Given the description of an element on the screen output the (x, y) to click on. 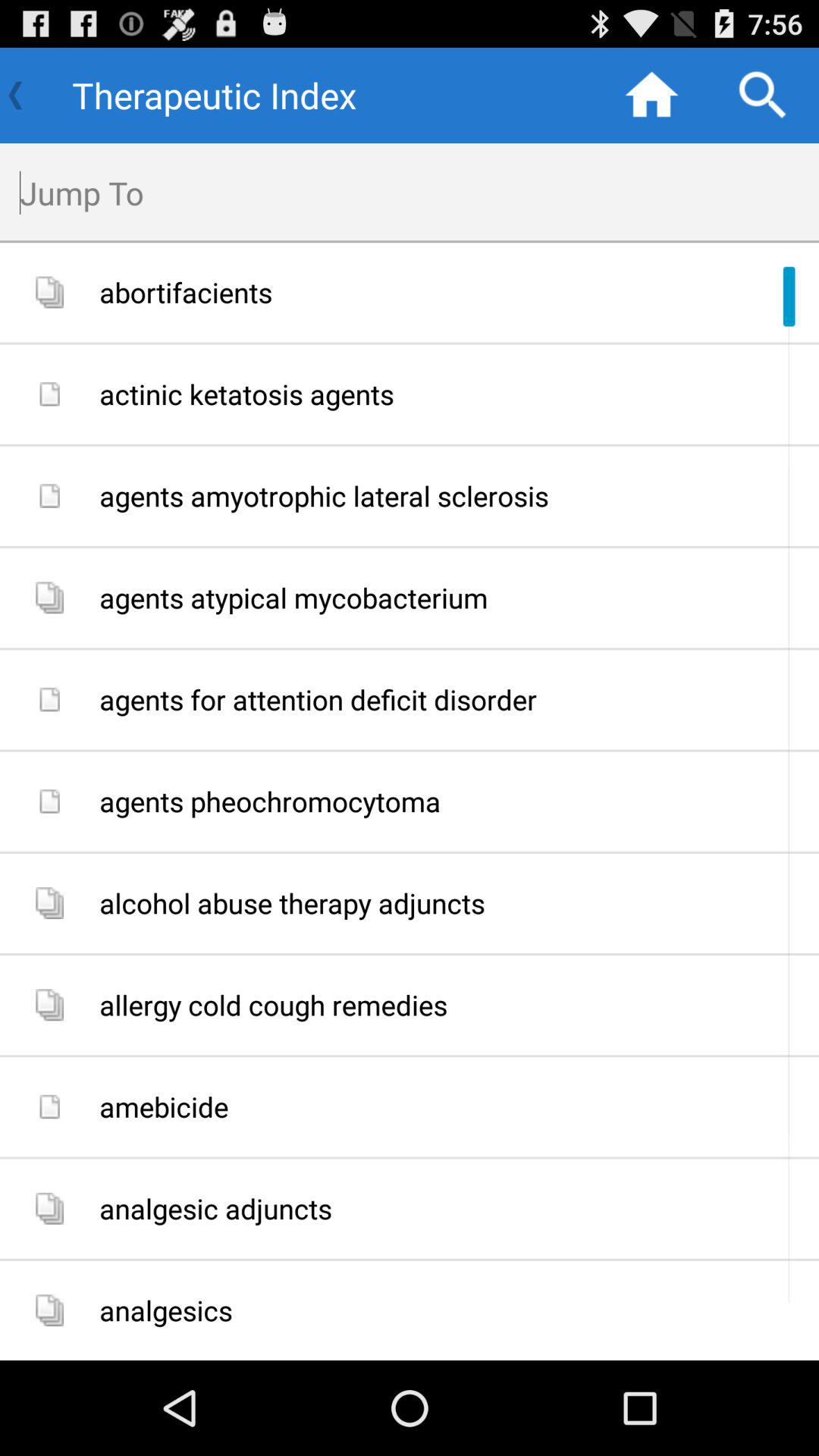
swipe until actinic ketatosis agents app (453, 394)
